Given the description of an element on the screen output the (x, y) to click on. 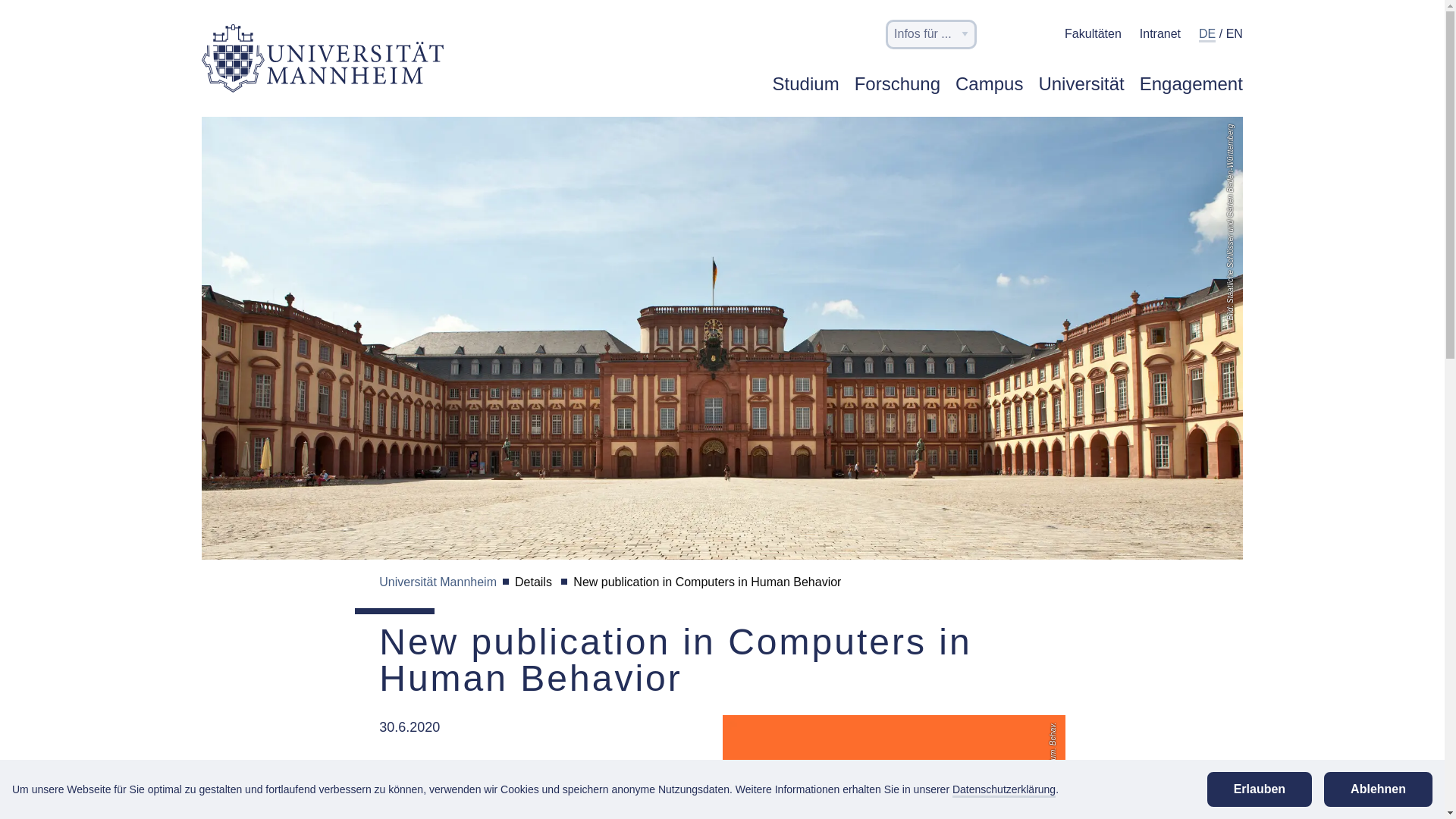
Studium (806, 92)
Suchen (1002, 38)
Intranet (1160, 33)
Barrierefreiheit (1036, 33)
Suchen (1002, 34)
DE (1206, 34)
EN (1234, 34)
Barrierefreiheit (1036, 38)
